Given the description of an element on the screen output the (x, y) to click on. 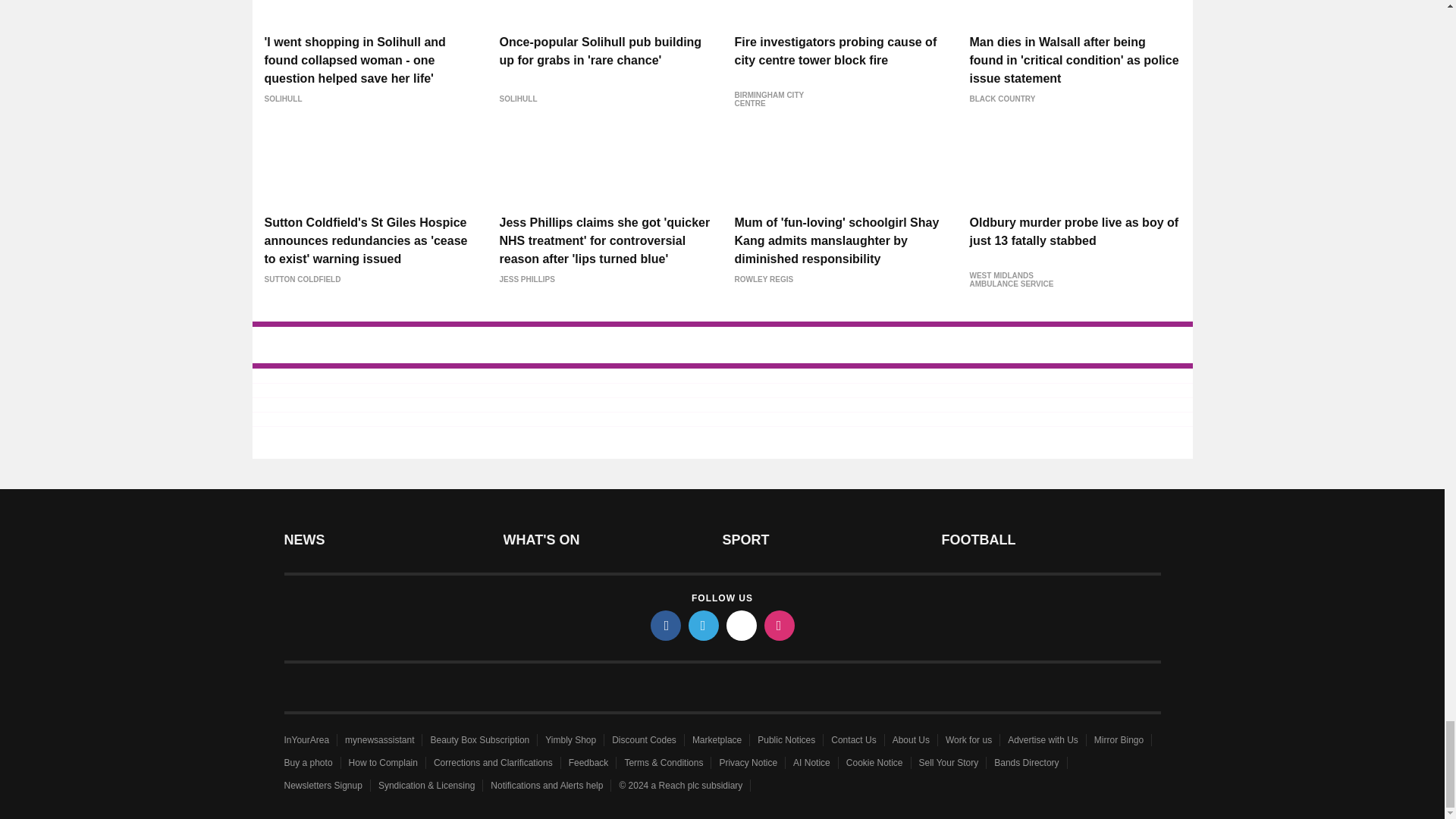
tiktok (741, 624)
facebook (665, 624)
instagram (779, 624)
twitter (703, 624)
